Given the description of an element on the screen output the (x, y) to click on. 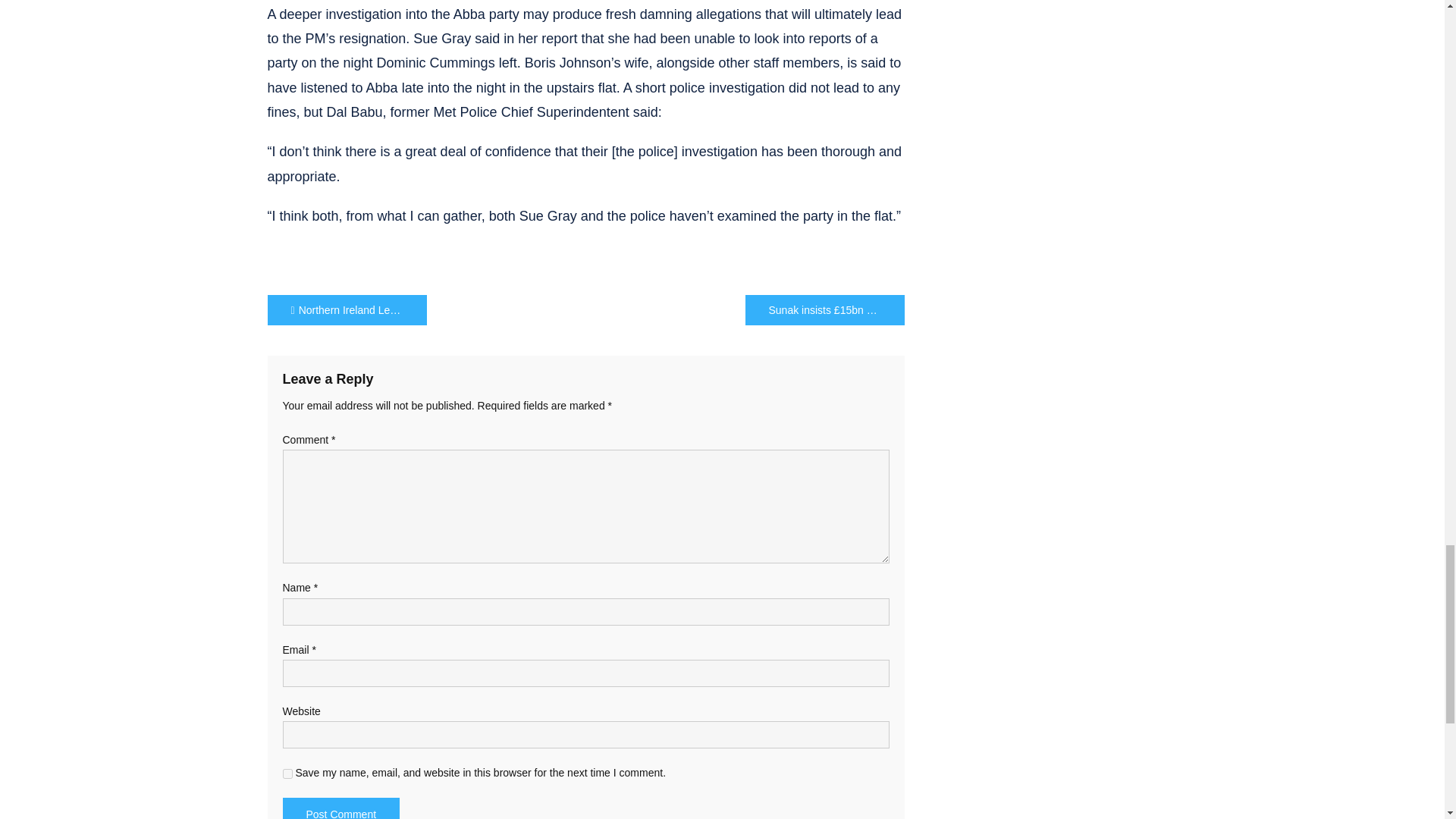
Post Comment (340, 808)
yes (287, 773)
Post Comment (340, 808)
